Given the description of an element on the screen output the (x, y) to click on. 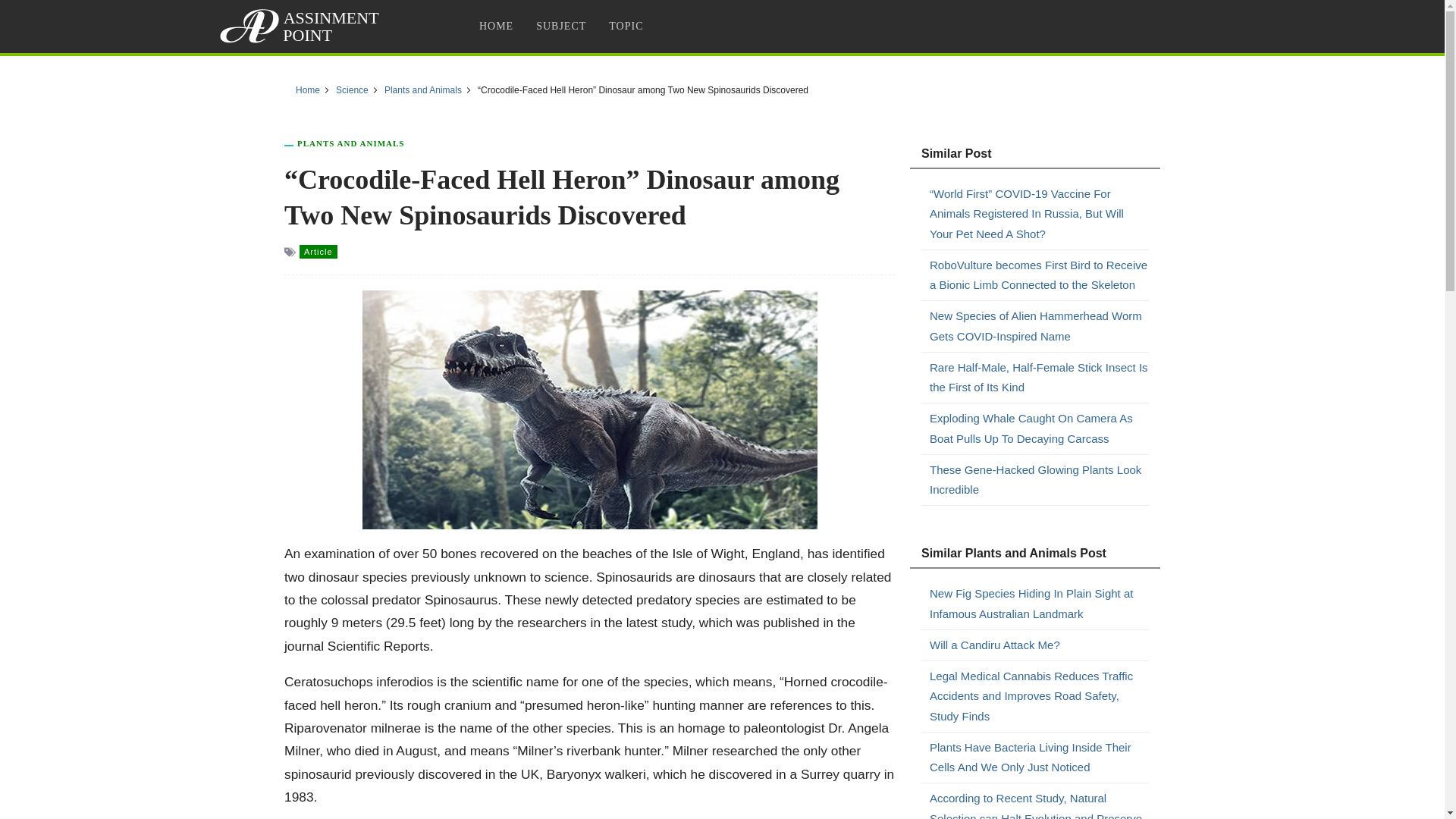
PLANTS AND ANIMALS (350, 143)
Plants and Animals (350, 143)
SUBJECT (560, 26)
TOPIC (624, 26)
Article (318, 251)
HOME (495, 26)
Plants and Animals (422, 90)
These Gene-Hacked Glowing Plants Look Incredible (1039, 480)
